Given the description of an element on the screen output the (x, y) to click on. 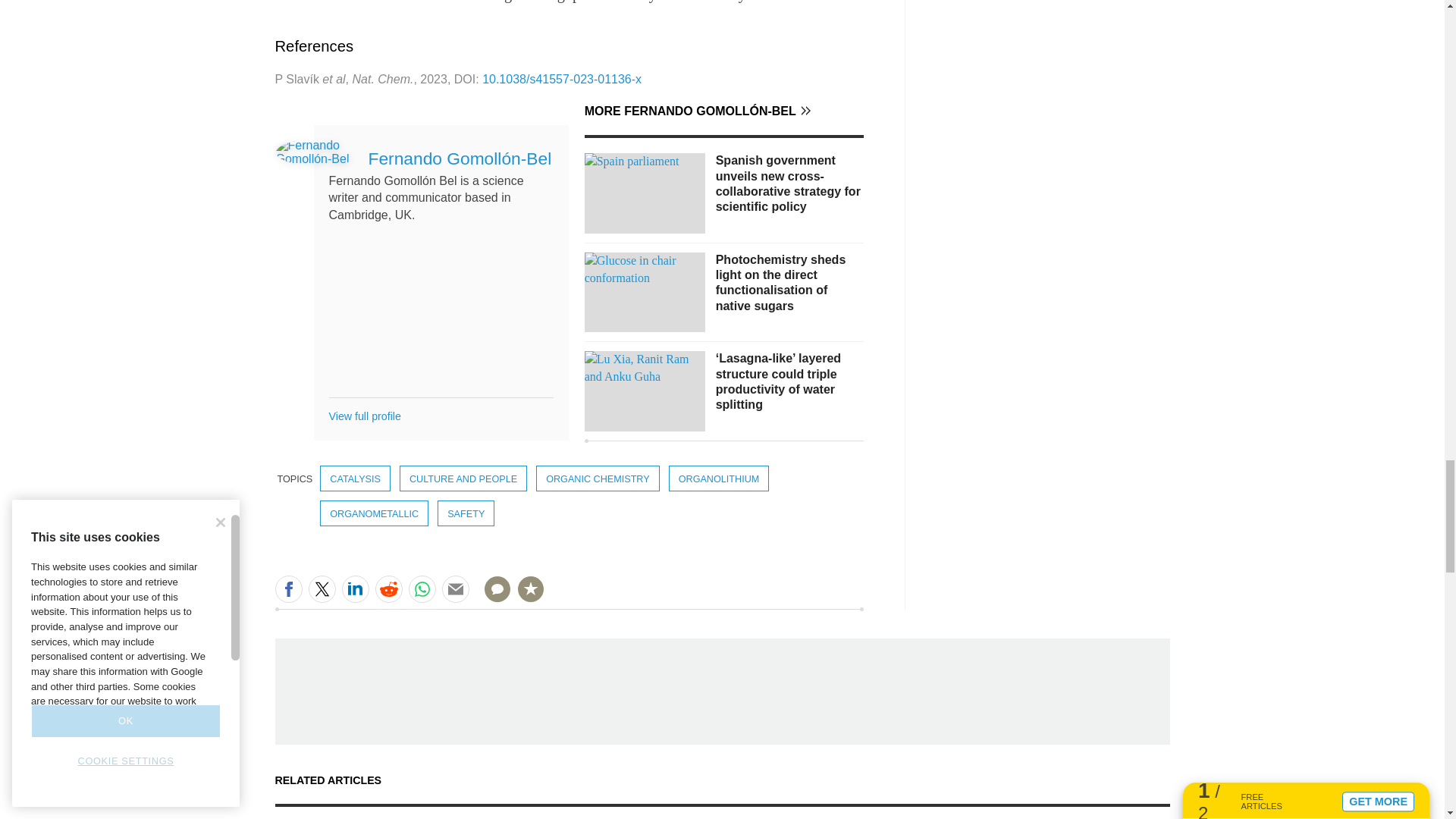
Share this on Facebook (288, 588)
Share this on WhatsApp (421, 588)
Share this on Reddit (387, 588)
Share this by email (454, 588)
Share this on LinkedIn (354, 588)
NO COMMENTS (492, 598)
